Given the description of an element on the screen output the (x, y) to click on. 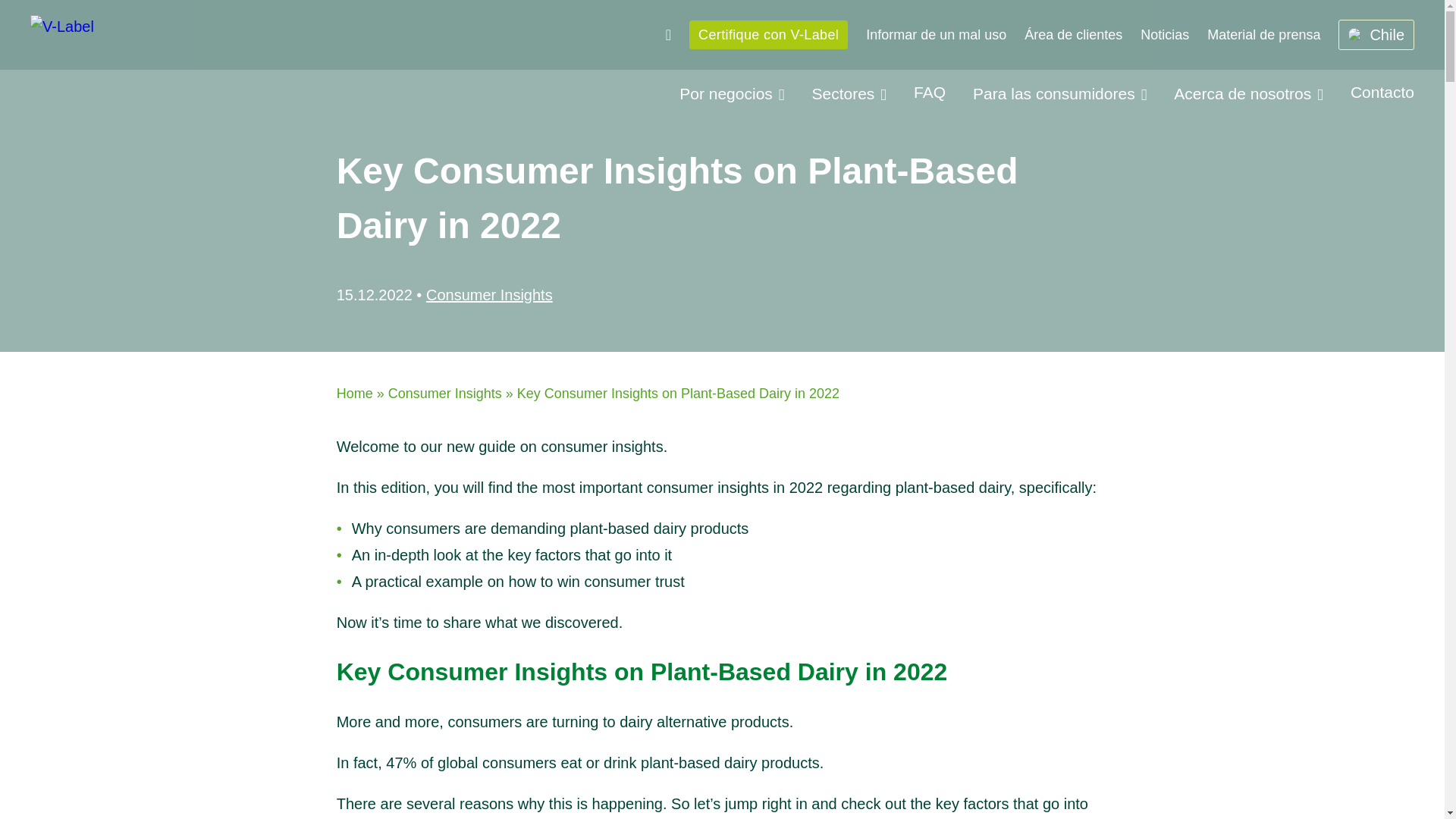
Go to V-Label. (354, 393)
